Given the description of an element on the screen output the (x, y) to click on. 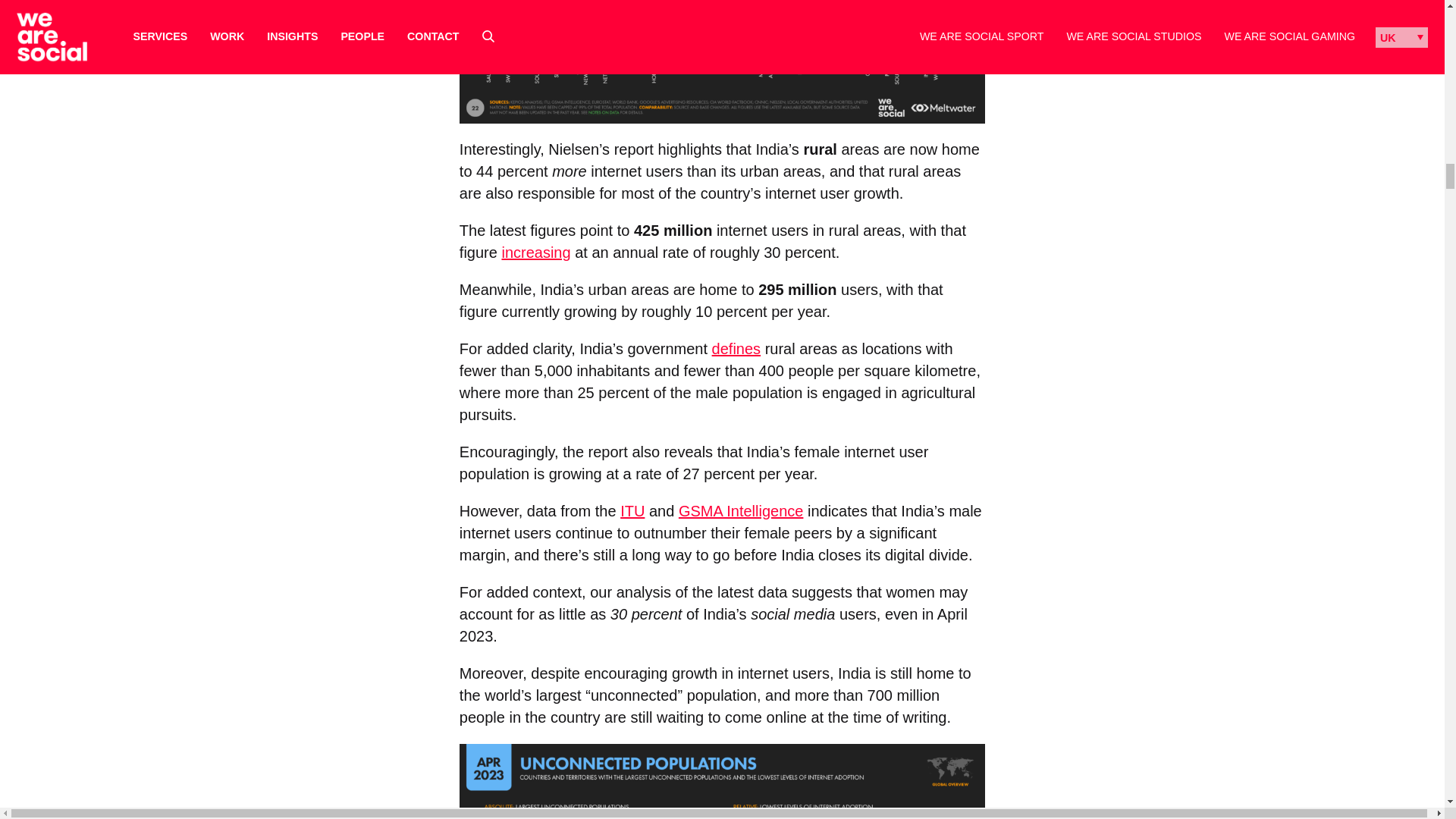
increasing (535, 252)
ITU (632, 510)
defines (736, 348)
GSMA Intelligence (740, 510)
